Given the description of an element on the screen output the (x, y) to click on. 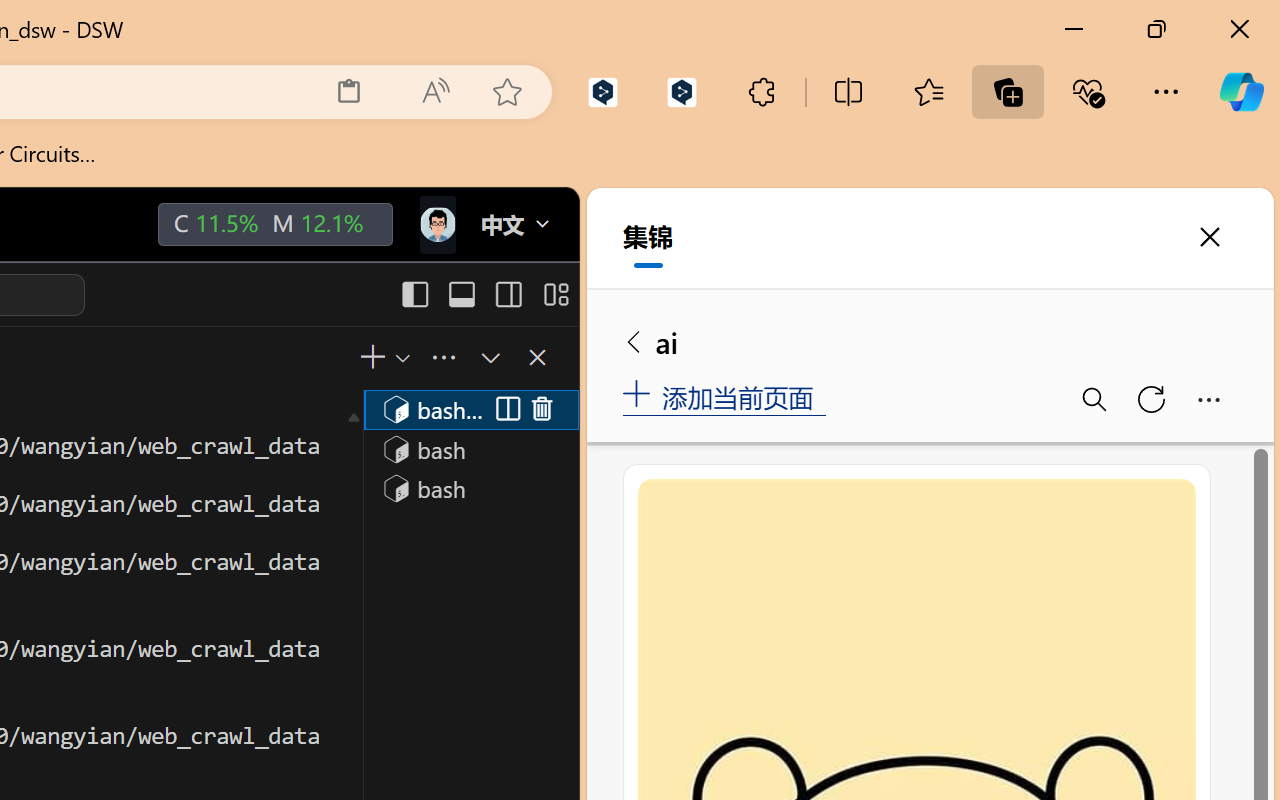
Toggle Secondary Side Bar (Ctrl+Alt+B) (506, 294)
Views and More Actions... (442, 357)
Toggle Primary Side Bar (Ctrl+B) (413, 294)
Toggle Panel (Ctrl+J) (461, 294)
Class: next-menu next-hoz widgets--iconMenu--BFkiHRM (436, 225)
Close Panel (535, 357)
Terminal 2 bash (470, 448)
